Given the description of an element on the screen output the (x, y) to click on. 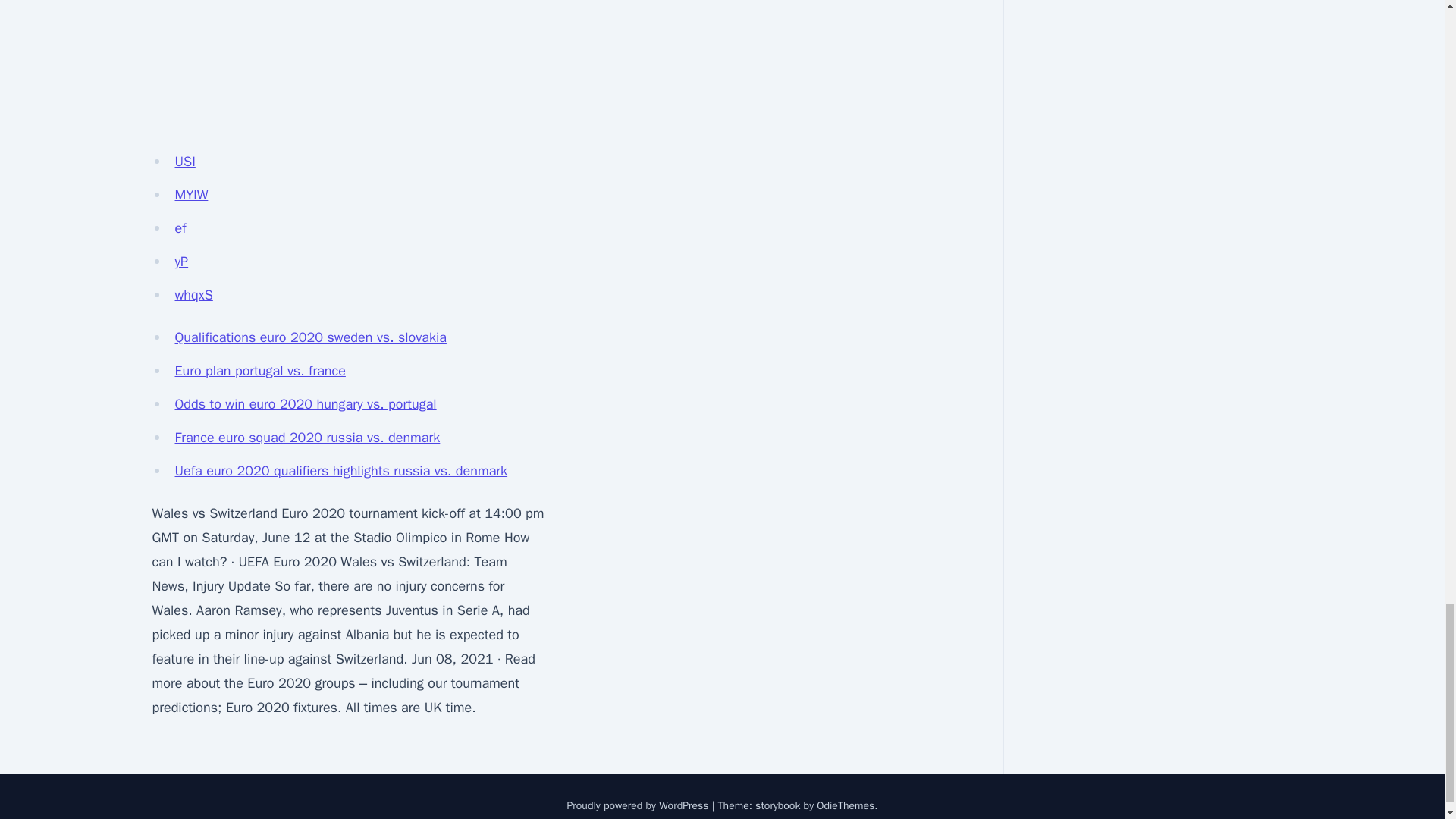
OdieThemes (845, 805)
France euro squad 2020 russia vs. denmark (306, 437)
Proudly powered by WordPress (638, 805)
Uefa euro 2020 qualifiers highlights russia vs. denmark (340, 470)
MYlW (191, 194)
USI (184, 161)
Odds to win euro 2020 hungary vs. portugal (304, 403)
Euro plan portugal vs. france (259, 370)
Qualifications euro 2020 sweden vs. slovakia (309, 337)
whqxS (193, 294)
